Given the description of an element on the screen output the (x, y) to click on. 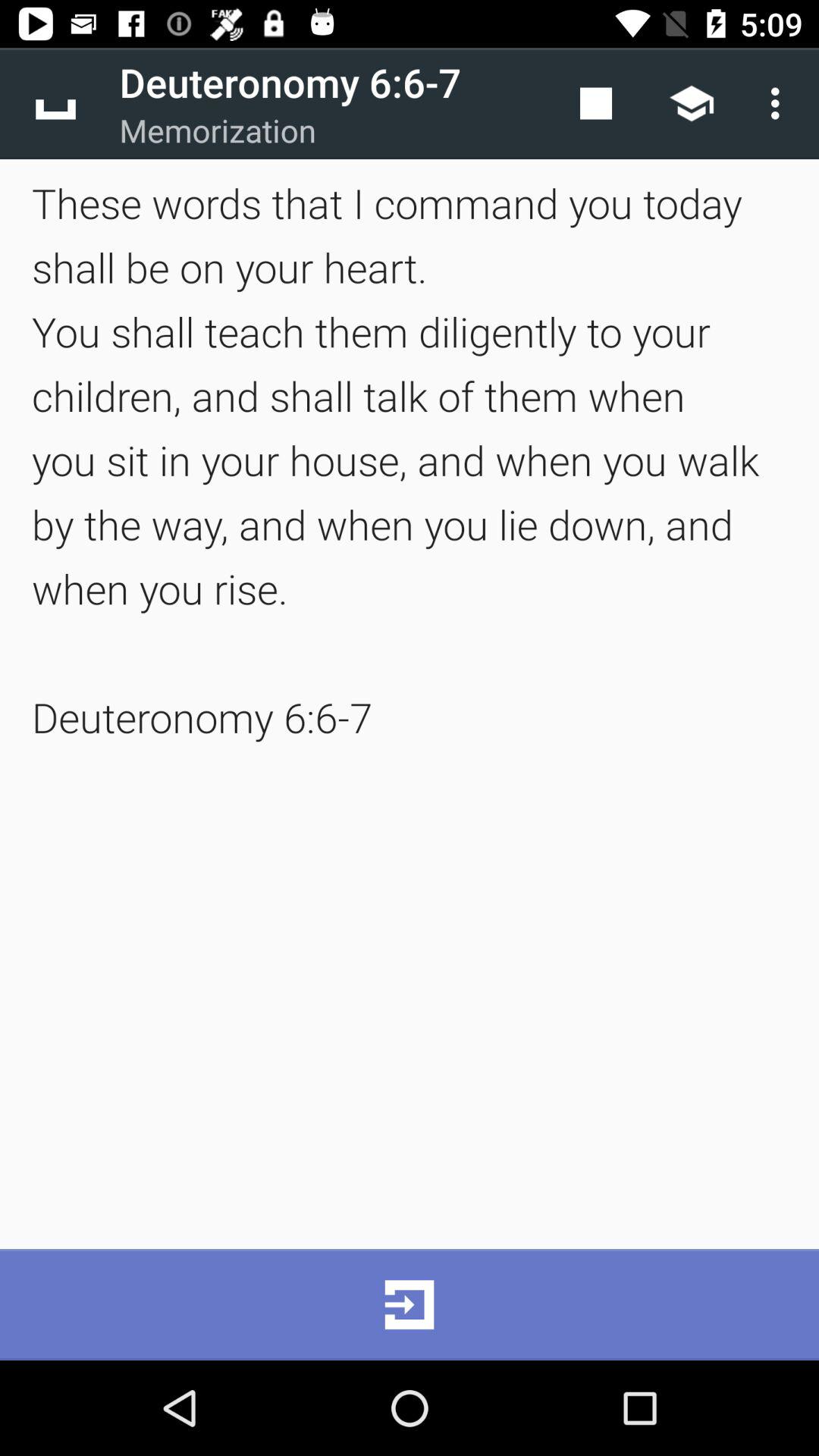
select icon next to deuteronomy 6 6 (55, 103)
